Given the description of an element on the screen output the (x, y) to click on. 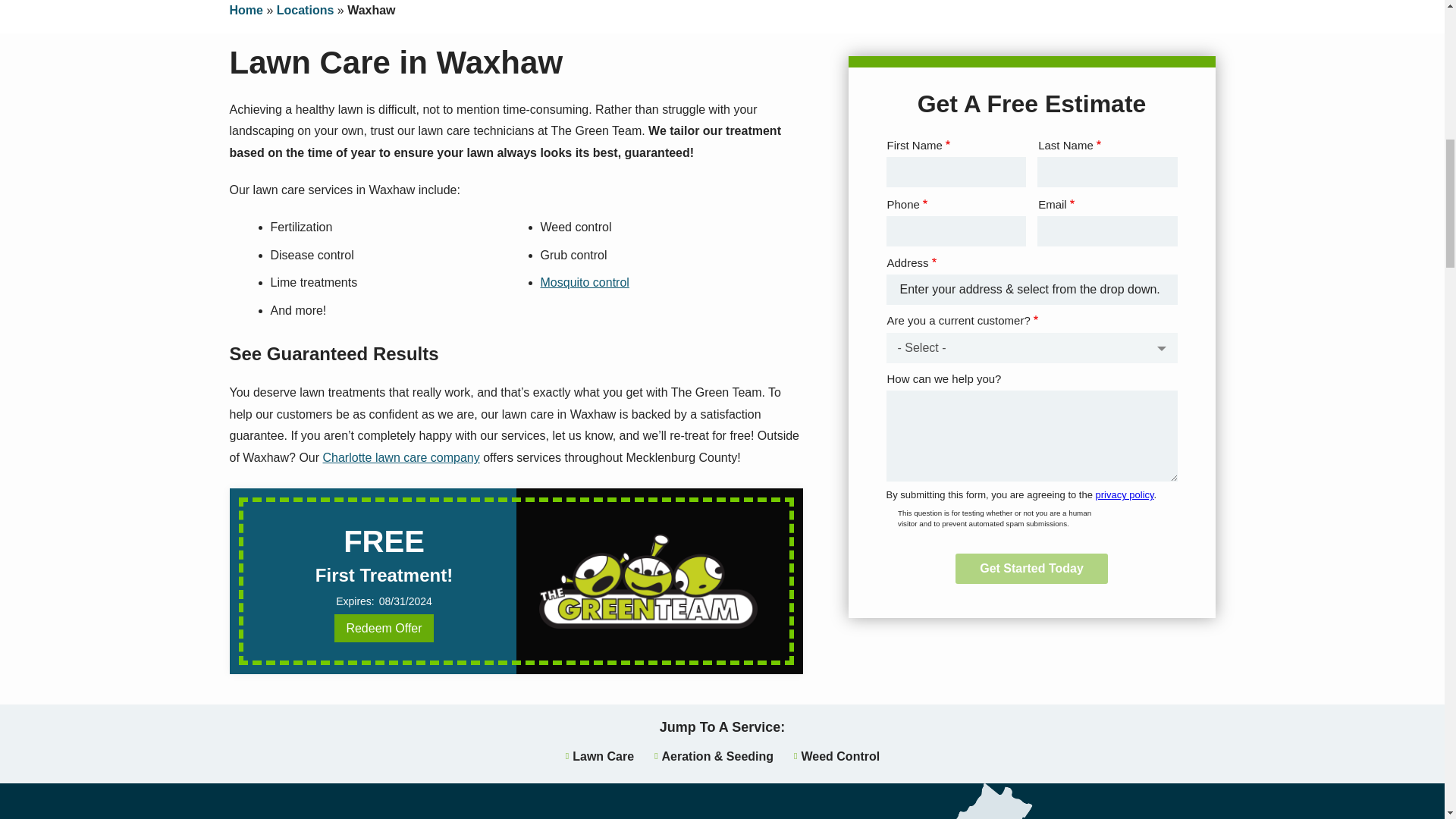
Get Started Today (1031, 568)
